Given the description of an element on the screen output the (x, y) to click on. 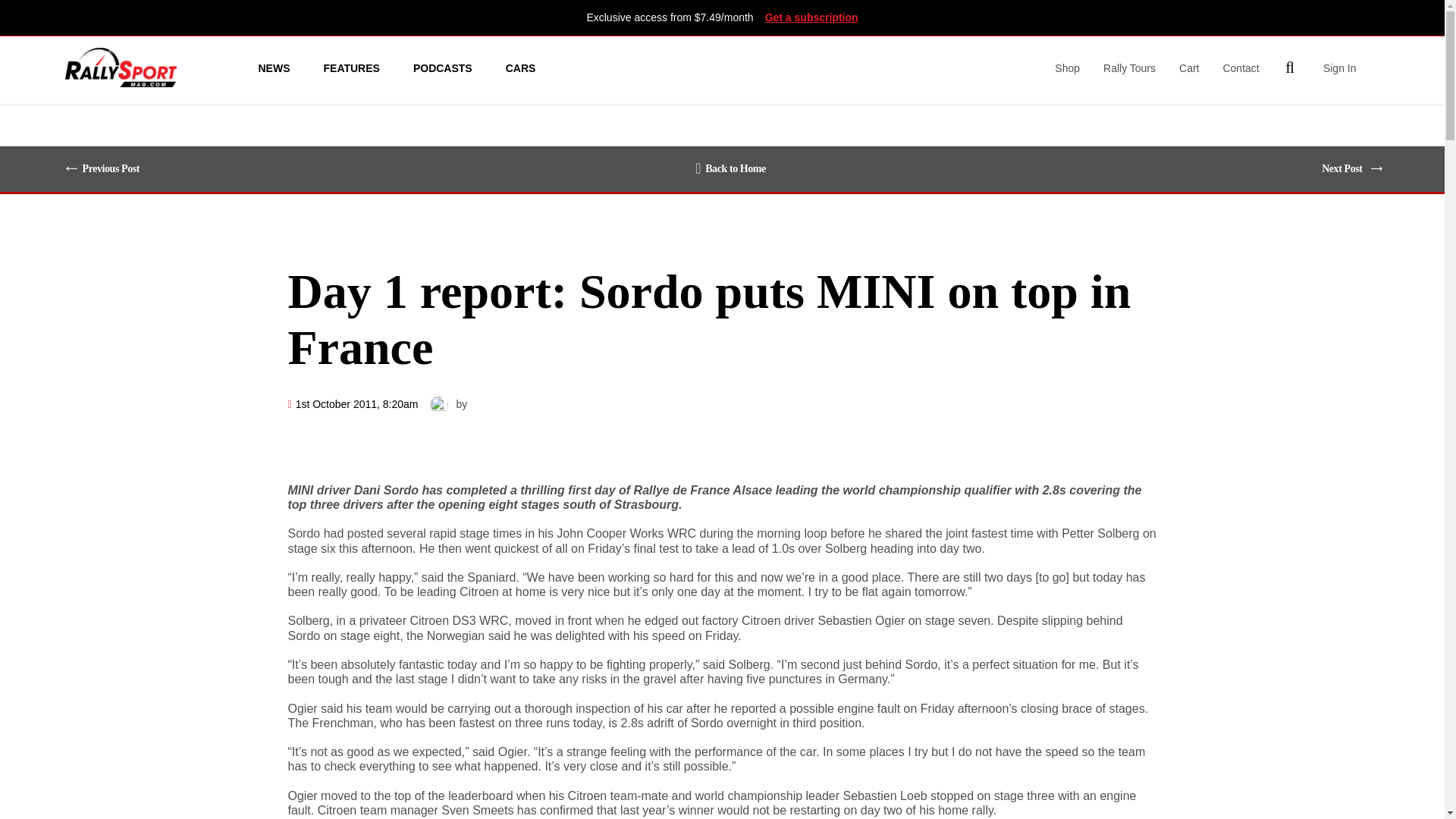
Back to Home (730, 168)
CARS (520, 67)
Cart (1188, 67)
by (462, 404)
Shop (1067, 67)
PODCASTS (442, 67)
Rally Tours (1129, 67)
FEATURES (350, 67)
NEWS (273, 67)
Next Post (1345, 168)
Previous Post (107, 168)
Sign In (1339, 67)
Contact (1241, 67)
Get a subscription (812, 17)
